Given the description of an element on the screen output the (x, y) to click on. 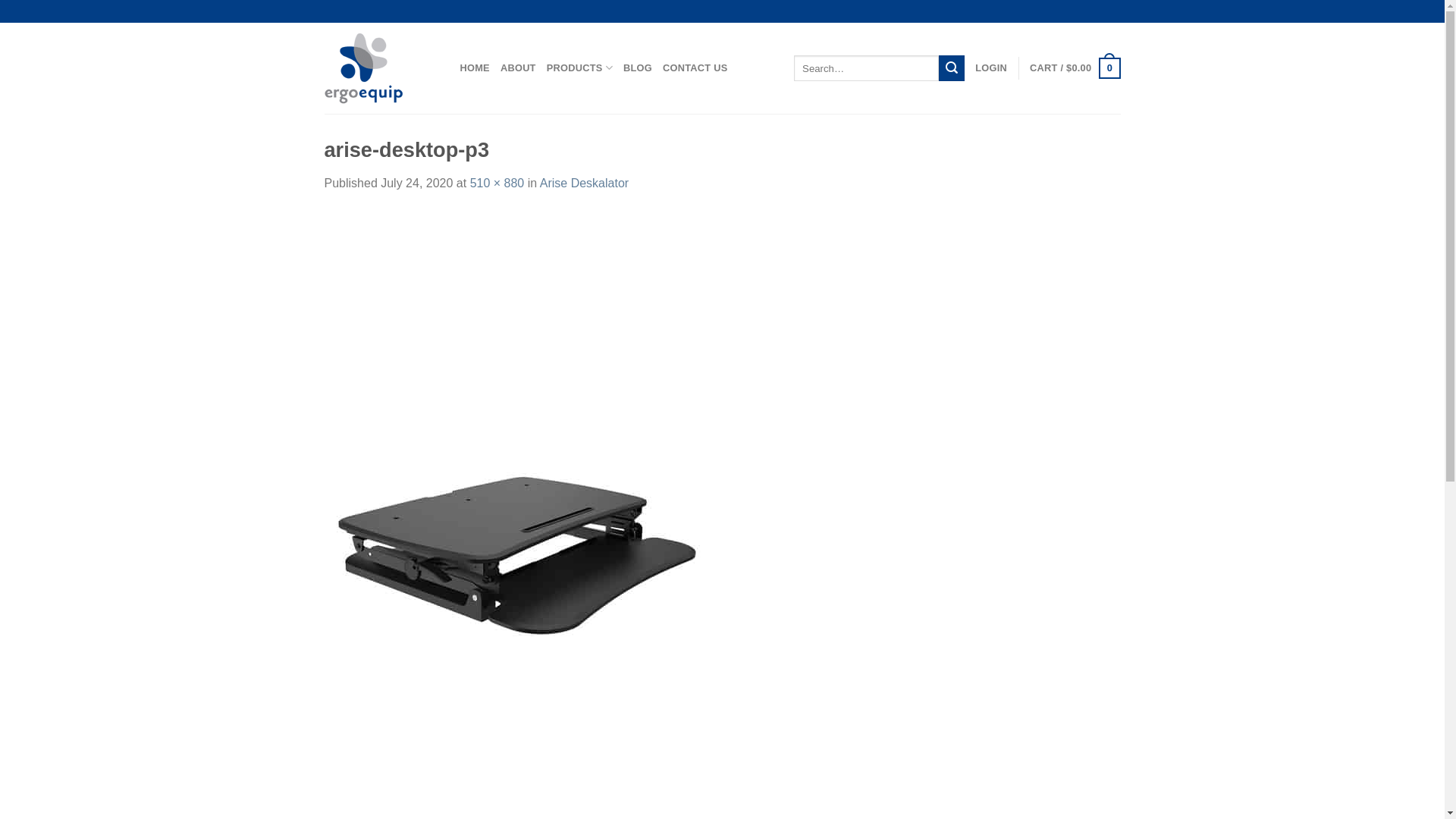
arise-desktop-p3 Element type: hover (517, 543)
Arise Deskalator Element type: text (583, 182)
ABOUT Element type: text (518, 68)
CONTACT US Element type: text (695, 68)
PRODUCTS Element type: text (579, 68)
BLOG Element type: text (637, 68)
Ergo Equip Element type: hover (380, 68)
HOME Element type: text (474, 68)
LOGIN Element type: text (991, 68)
CART / $0.00
0 Element type: text (1074, 68)
Search Element type: text (951, 68)
